Given the description of an element on the screen output the (x, y) to click on. 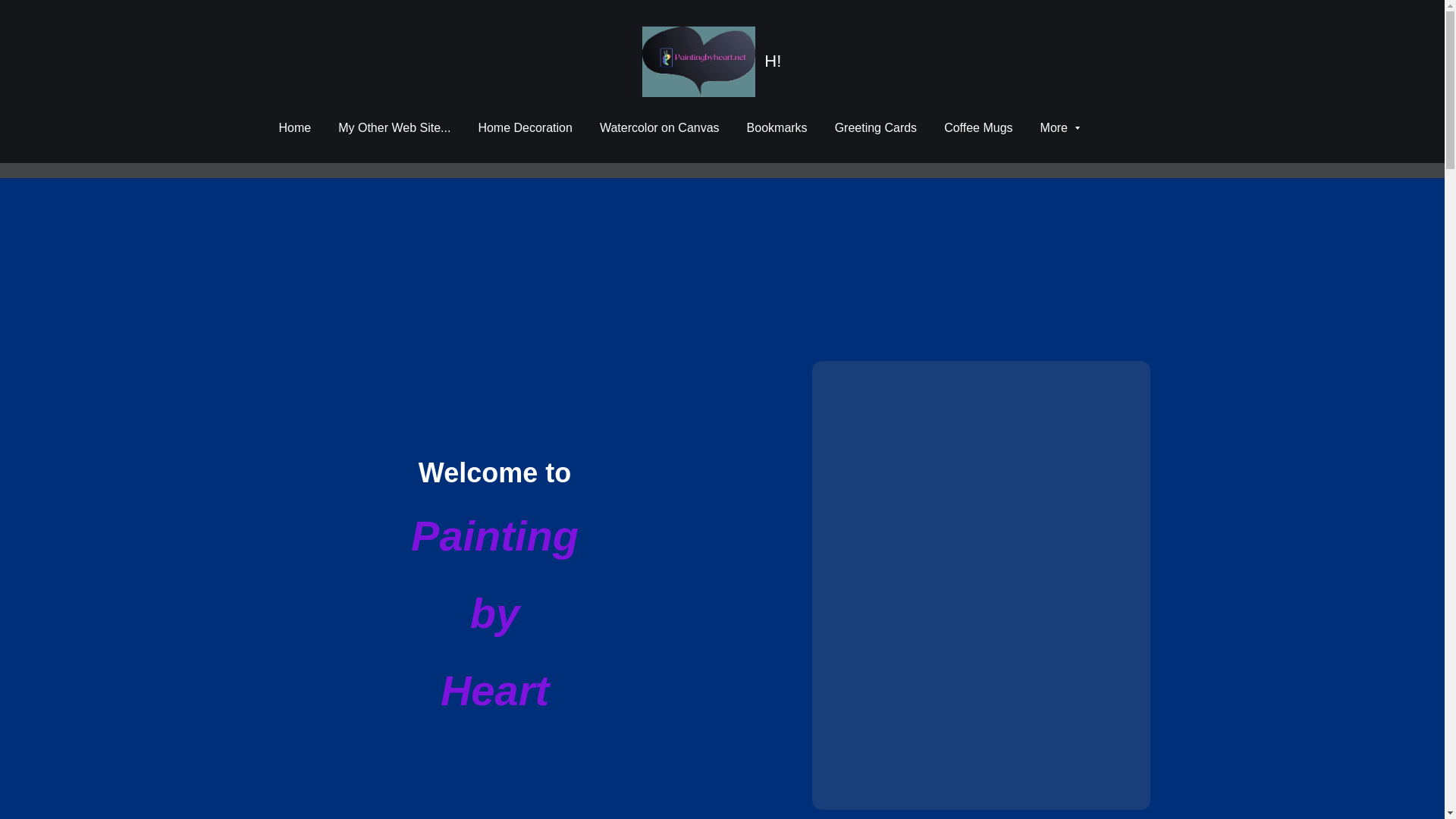
More (1060, 127)
Bookmarks (777, 127)
Home (295, 127)
H!  (722, 61)
My Other Web Site... (393, 127)
Greeting Cards (875, 127)
Watercolor on Canvas (659, 127)
Coffee Mugs (977, 127)
Home Decoration (524, 127)
